Given the description of an element on the screen output the (x, y) to click on. 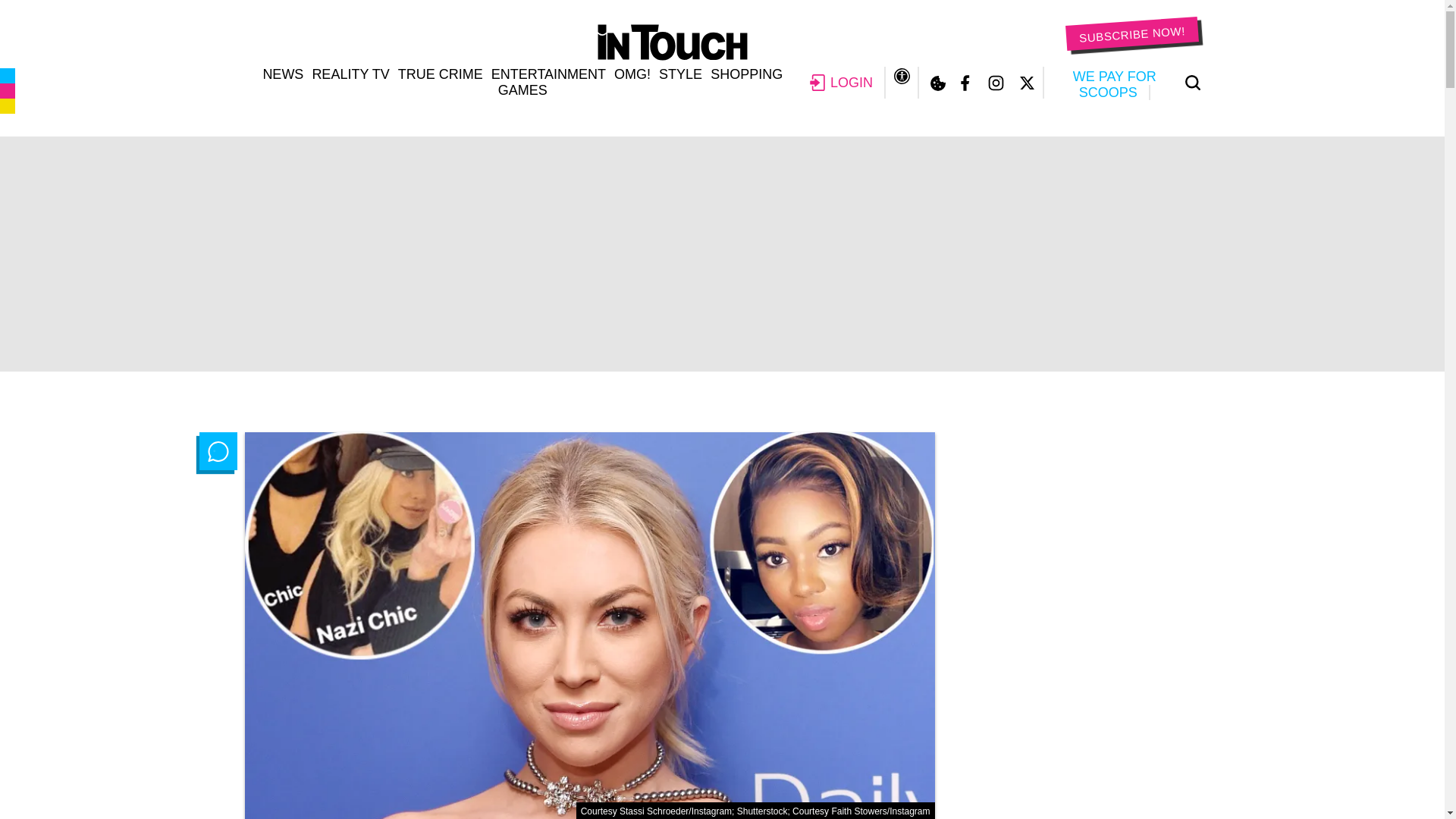
REALITY TV (349, 73)
NEWS (282, 73)
TRUE CRIME (440, 73)
